Given the description of an element on the screen output the (x, y) to click on. 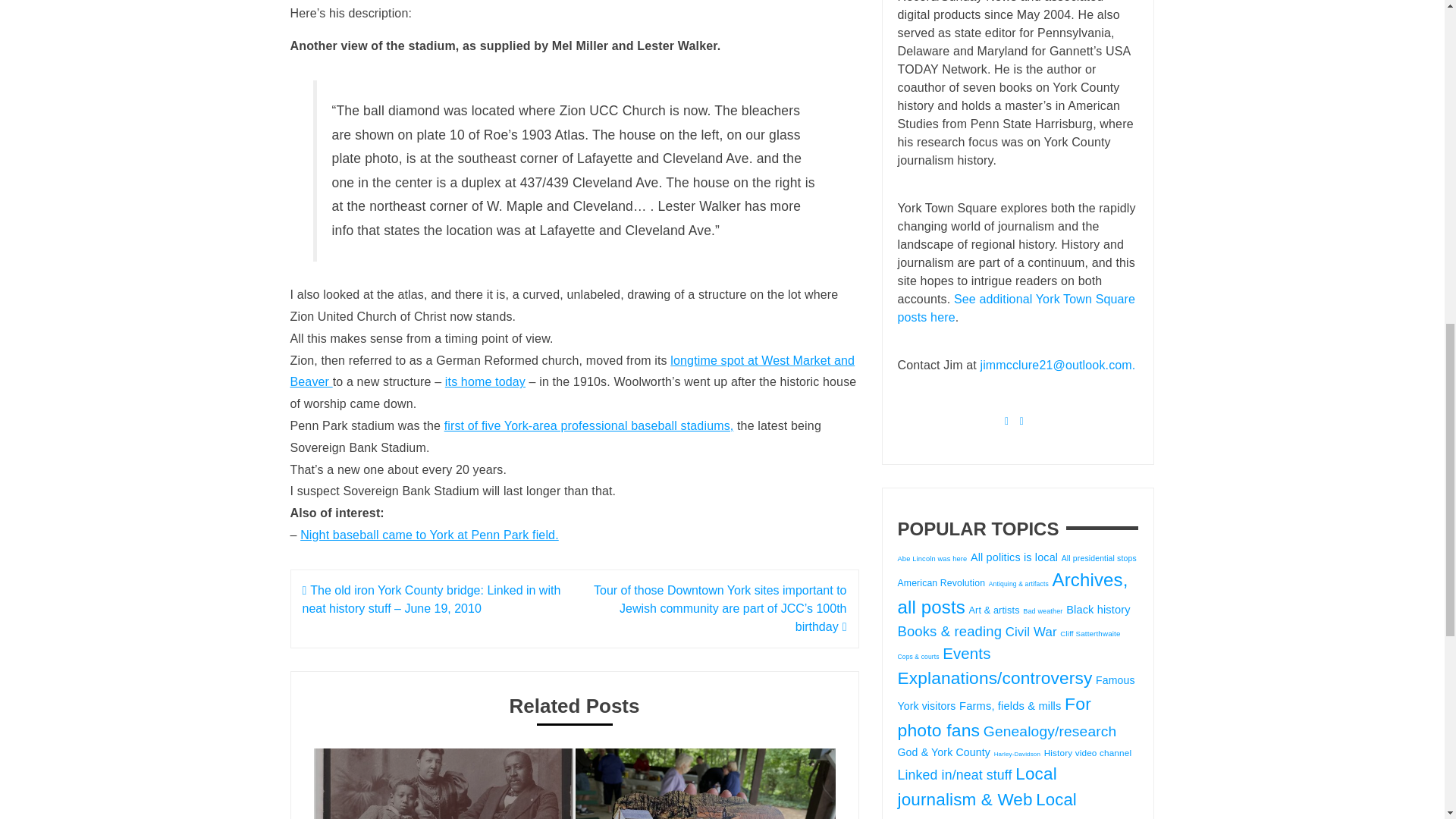
Night baseball came to York at Penn Park field. (429, 534)
first of five York-area professional baseball stadiums, (588, 425)
longtime spot at West Market and Beaver (571, 371)
its home today (485, 381)
